Given the description of an element on the screen output the (x, y) to click on. 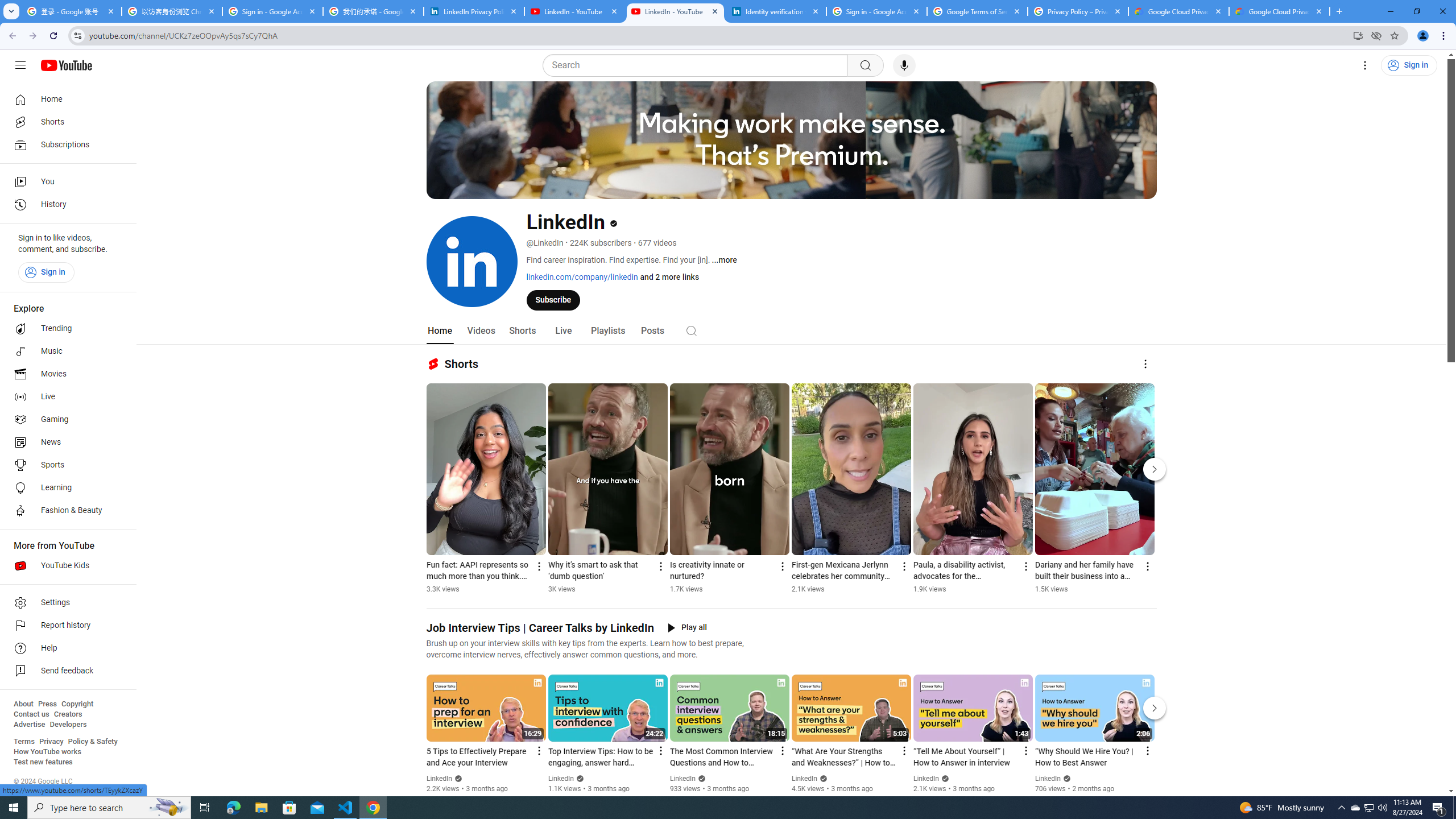
LinkedIn Privacy Policy (474, 11)
Fashion & Beauty (64, 510)
History (64, 204)
Press (46, 703)
Live (562, 330)
